Given the description of an element on the screen output the (x, y) to click on. 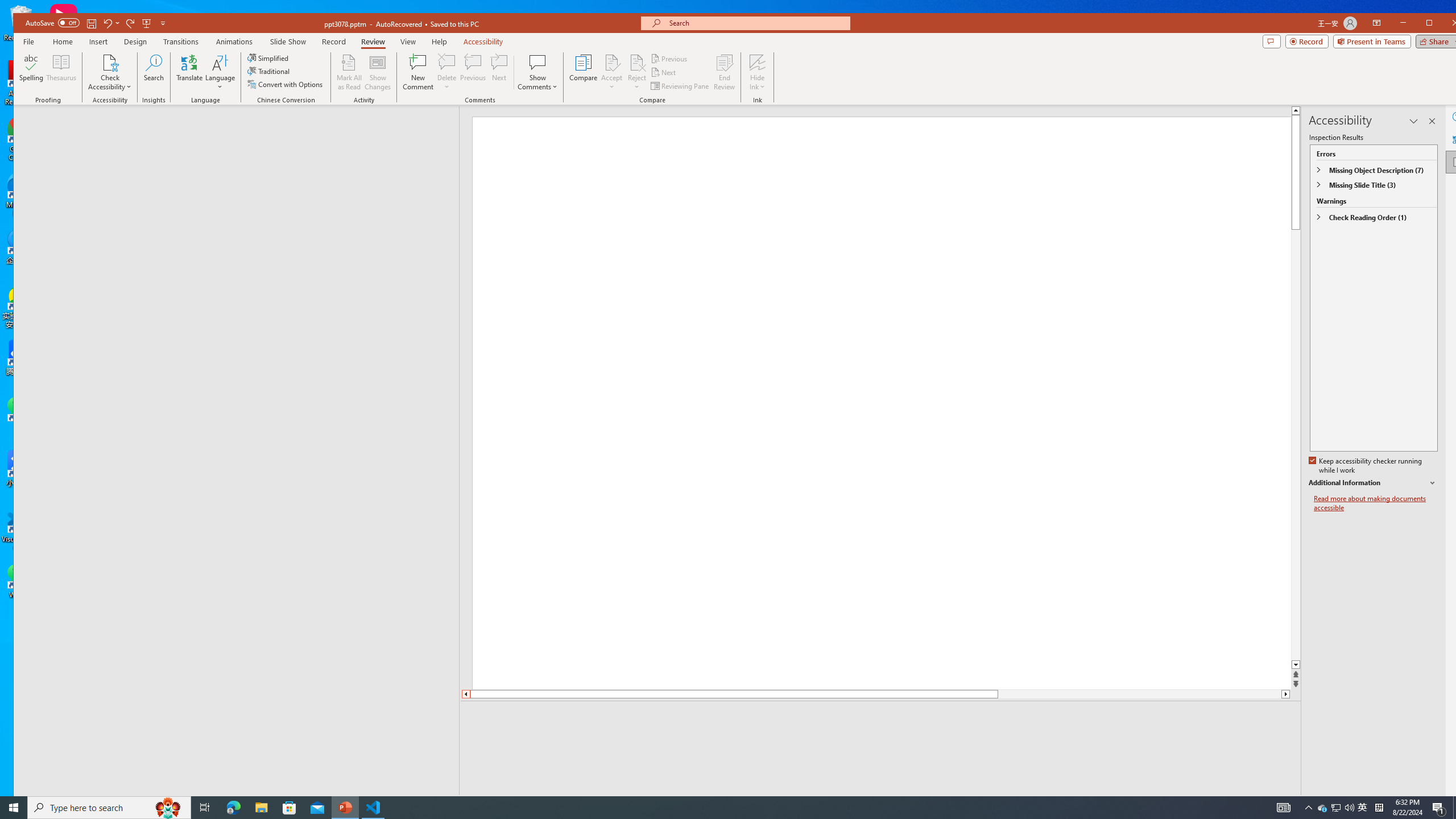
Additional Information (1373, 482)
Convert with Options... (286, 83)
Spelling... (31, 72)
Simplified (269, 57)
Show Comments (537, 72)
Next (664, 72)
Reject Change (636, 61)
Compare (582, 72)
Page down (1139, 693)
